Given the description of an element on the screen output the (x, y) to click on. 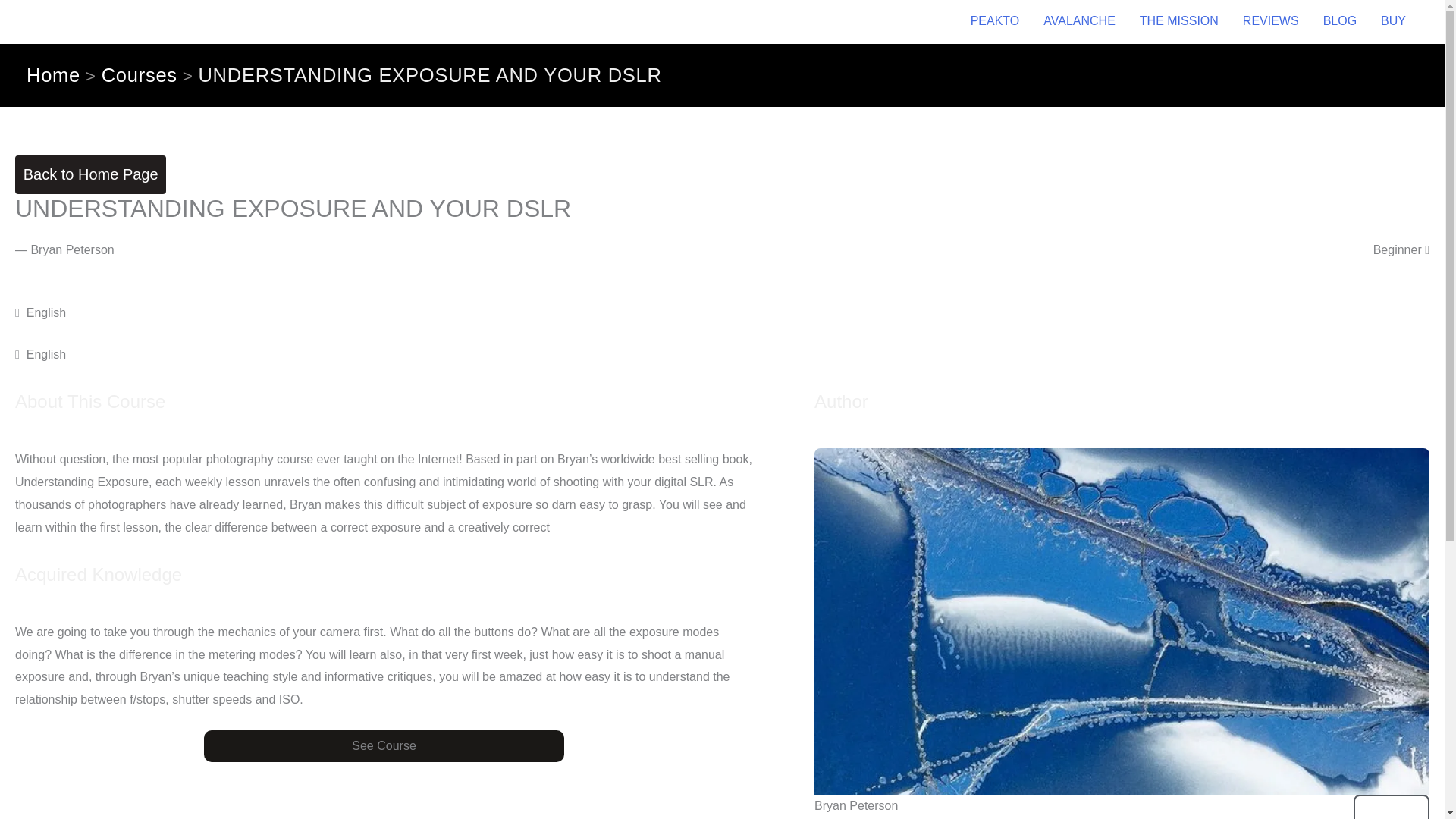
Home (53, 75)
BLOG (1339, 21)
REVIEWS (1270, 21)
Courses (139, 75)
AVALANCHE (1078, 21)
THE MISSION (1178, 21)
BUY (1393, 21)
Back to Home Page (89, 174)
PEAKTO (995, 21)
See Course (383, 745)
